Given the description of an element on the screen output the (x, y) to click on. 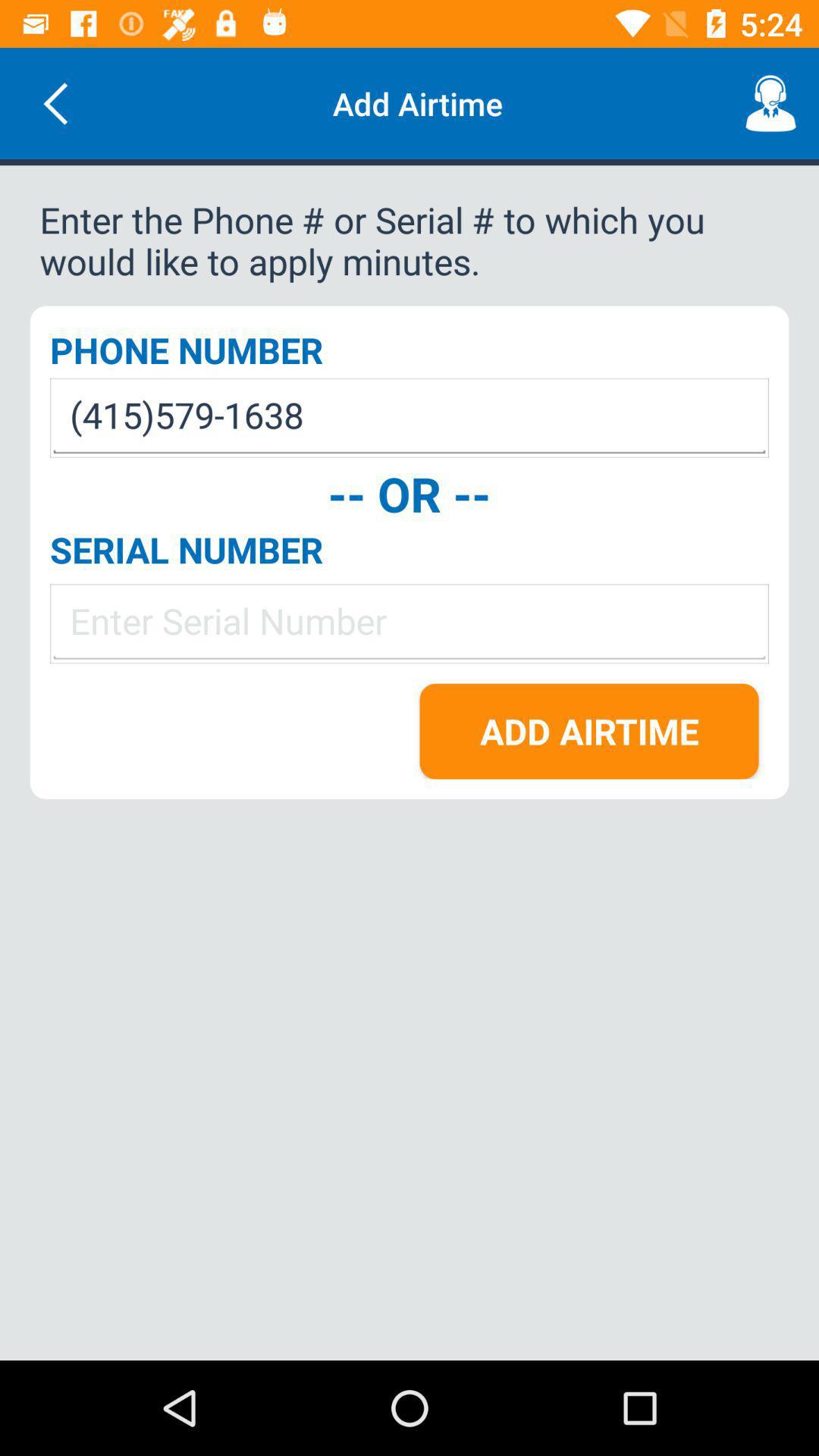
press (415)579-1638 (409, 417)
